Given the description of an element on the screen output the (x, y) to click on. 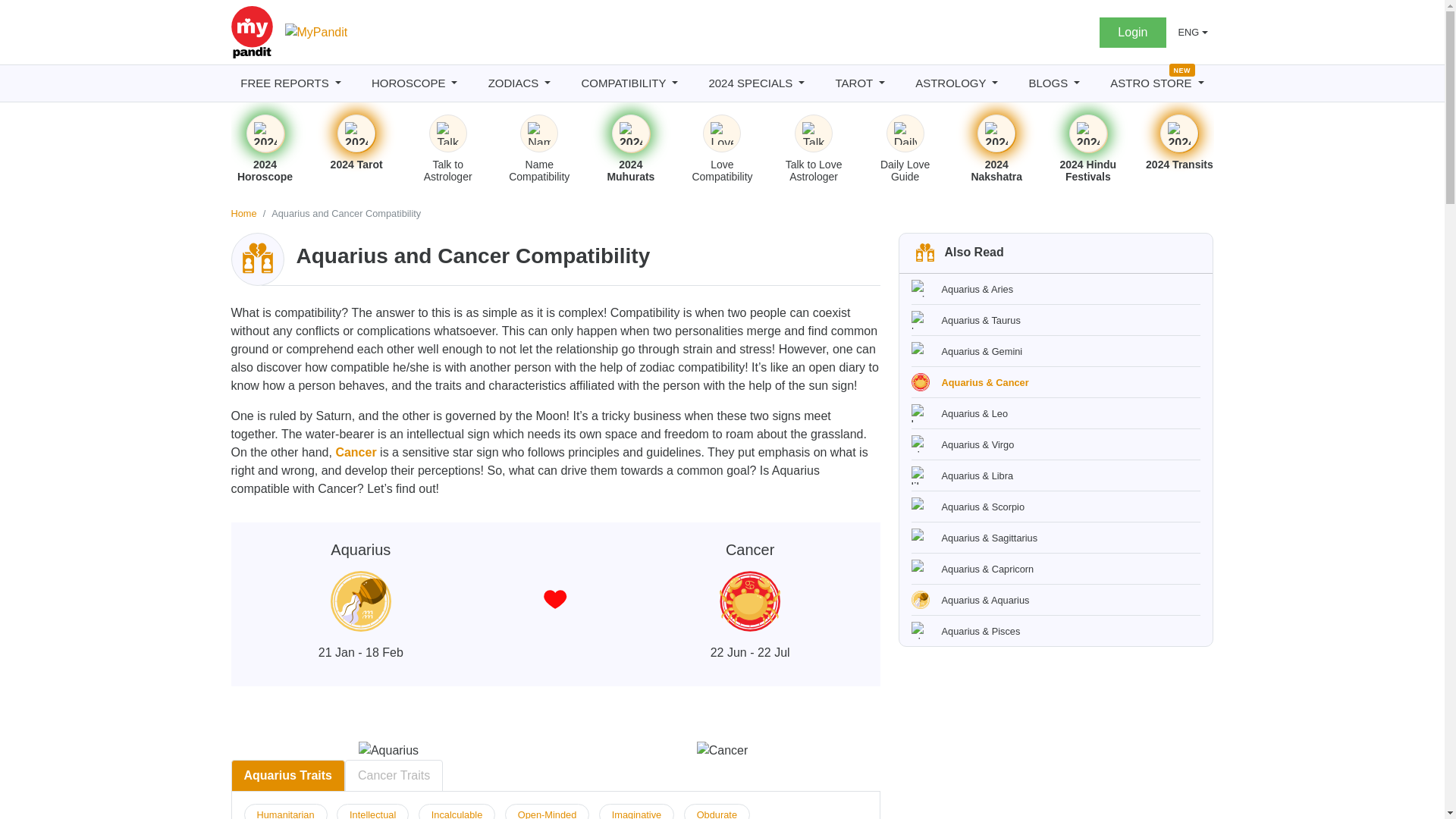
MyPandit (316, 32)
2024 Horoscope (264, 133)
FREE REPORTS (290, 83)
2024 Nakshatra (996, 133)
ENG (1192, 32)
2024 Transits (1179, 133)
ZODIACS (519, 83)
Love Compatibility (721, 133)
Name Compatibility (538, 133)
2024 Tarot (356, 133)
2024 Muhurats (631, 133)
2024 Hindu Festivals (1088, 133)
Talk to Astrologer (448, 133)
Zodiac Compatibility (257, 258)
